Given the description of an element on the screen output the (x, y) to click on. 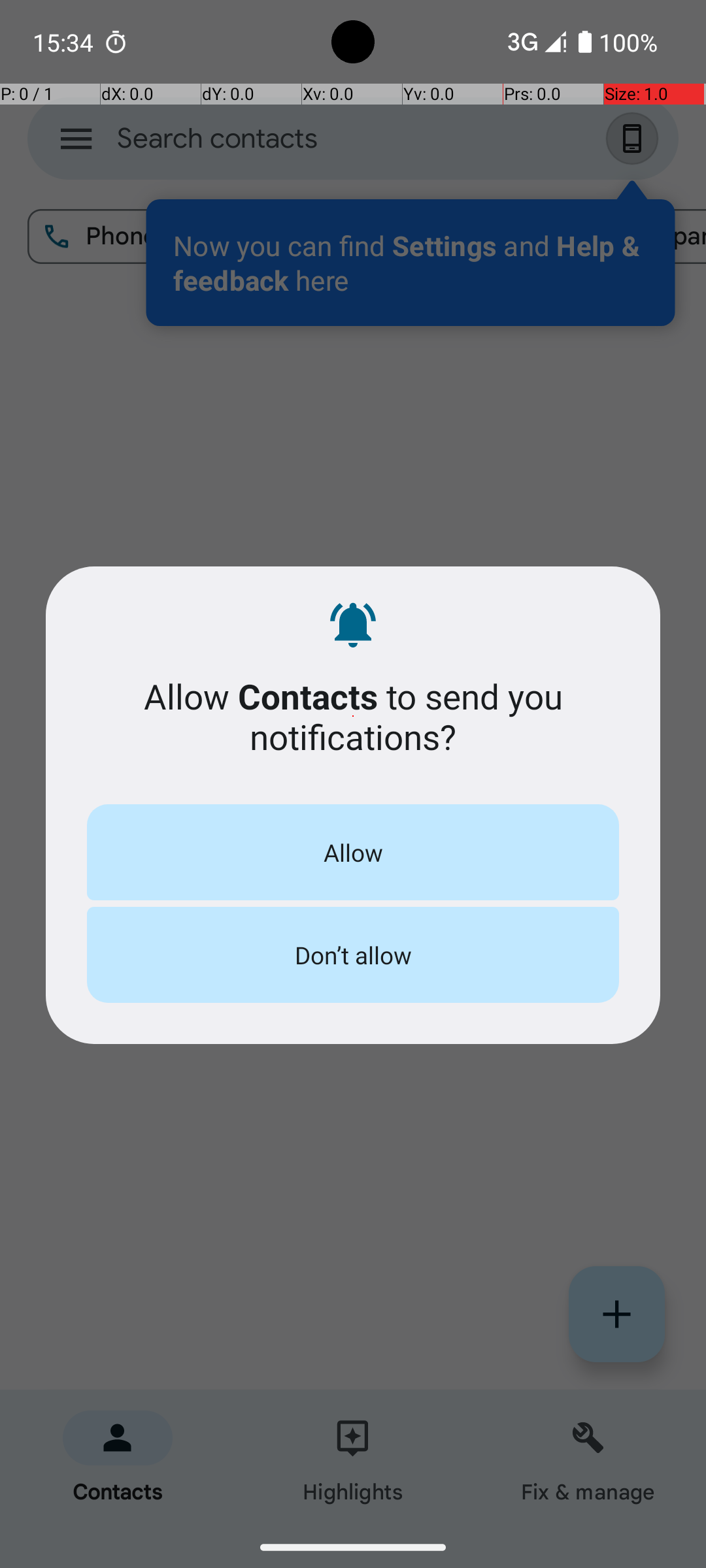
Allow Contacts to send you notifications? Element type: android.widget.TextView (352, 715)
Allow Element type: android.widget.Button (352, 852)
Don’t allow Element type: android.widget.Button (352, 954)
